Given the description of an element on the screen output the (x, y) to click on. 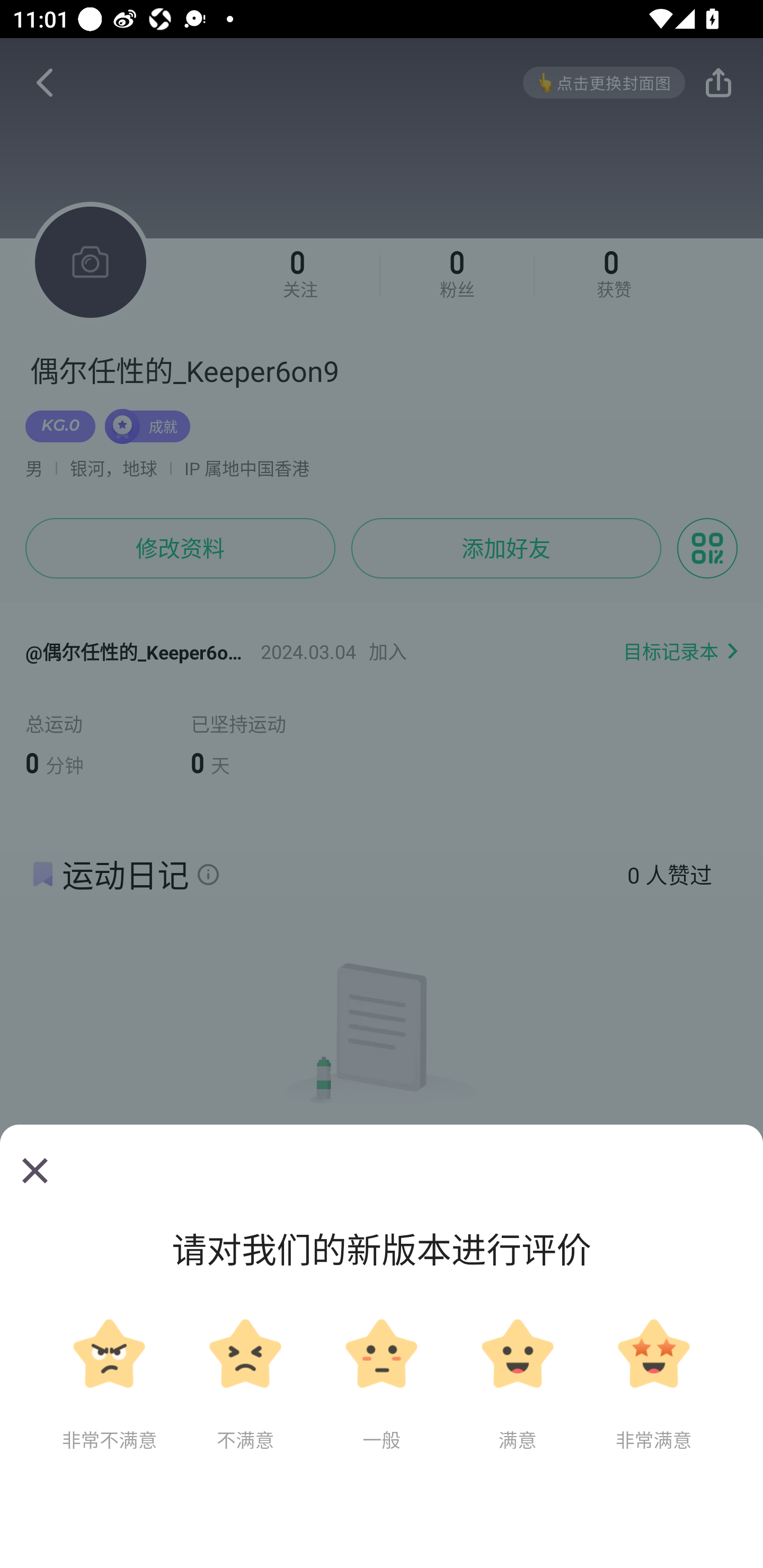
非常不满意 (109, 1384)
不满意 (245, 1384)
一般 (381, 1384)
满意 (517, 1384)
非常满意 (653, 1384)
